Given the description of an element on the screen output the (x, y) to click on. 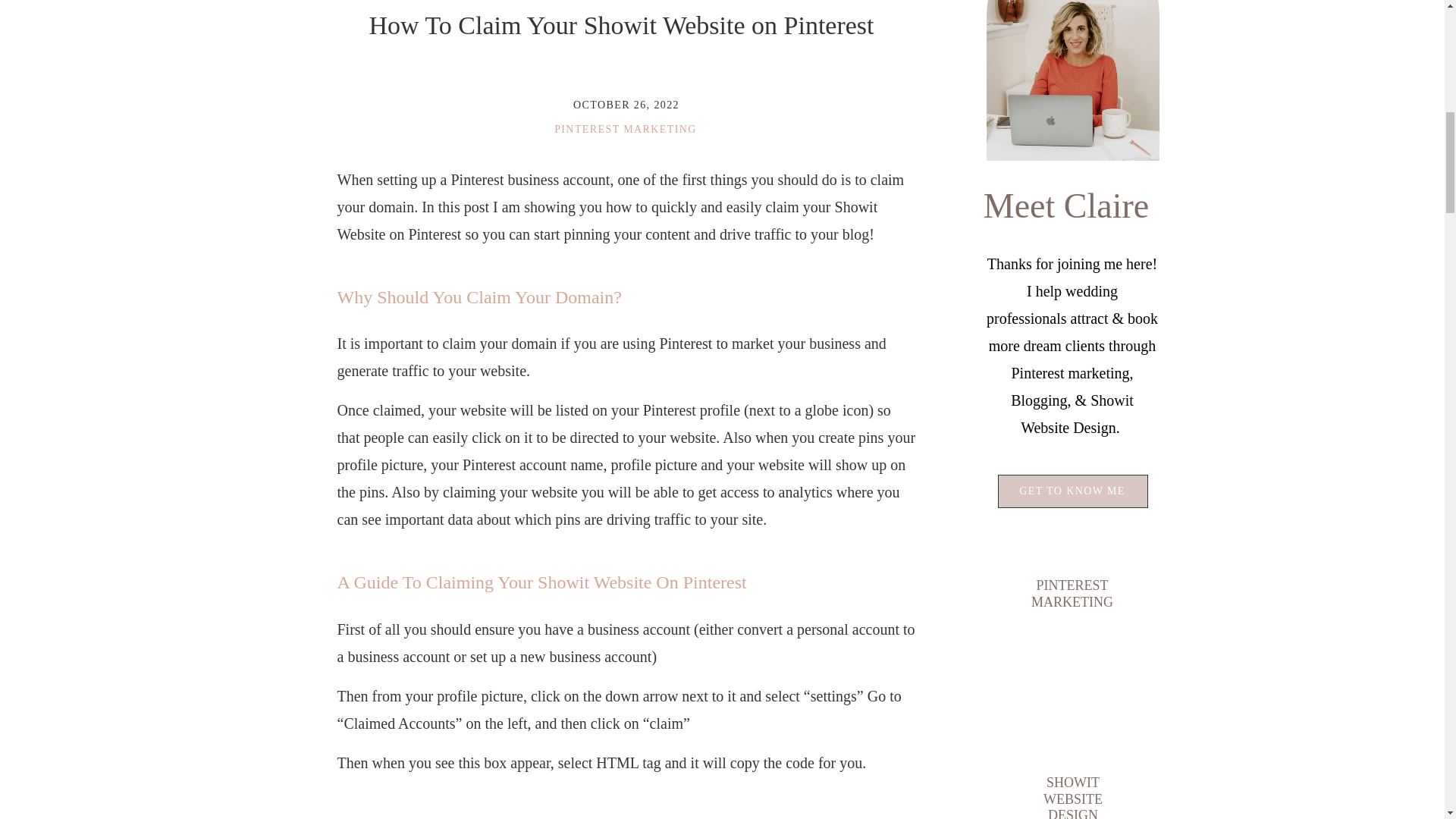
GET TO KNOW ME (1072, 491)
